Given the description of an element on the screen output the (x, y) to click on. 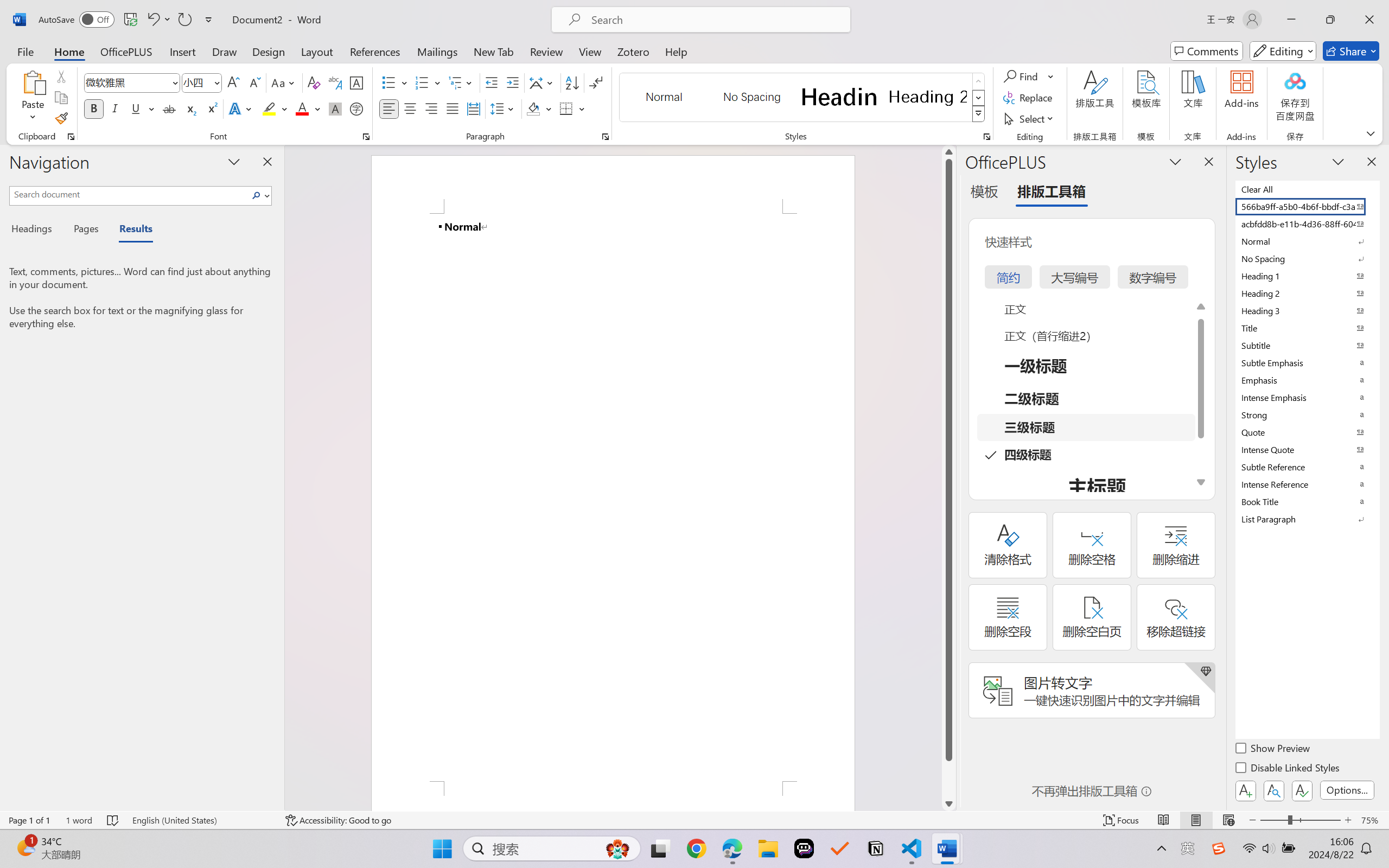
View (589, 51)
Headings (35, 229)
Line down (948, 803)
Class: NetUIImage (978, 114)
Asian Layout (542, 82)
Underline (135, 108)
Distributed (473, 108)
Zoom In (1348, 819)
